Given the description of an element on the screen output the (x, y) to click on. 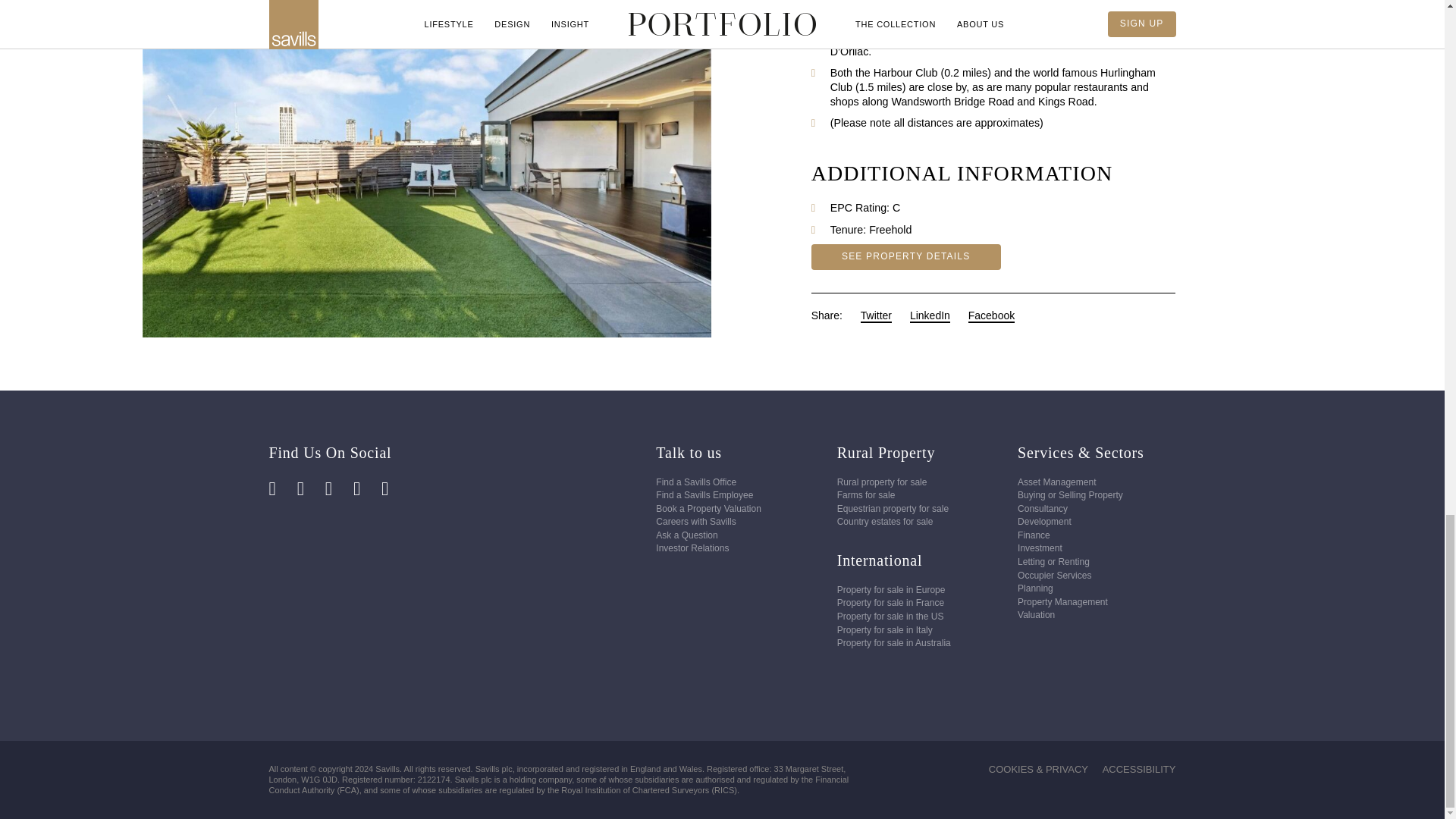
Find a Savills Employee (704, 494)
Equestrian property for sale (893, 508)
Rural property for sale (882, 481)
Facebook (991, 33)
Twitter (875, 33)
Ask a Question (686, 534)
Investor Relations (692, 547)
Farms for sale (866, 494)
Careers with Savills (695, 521)
LinkedIn (930, 33)
Find a Savills Office (696, 481)
Country estates for sale (885, 521)
Book a Property Valuation (708, 508)
